Given the description of an element on the screen output the (x, y) to click on. 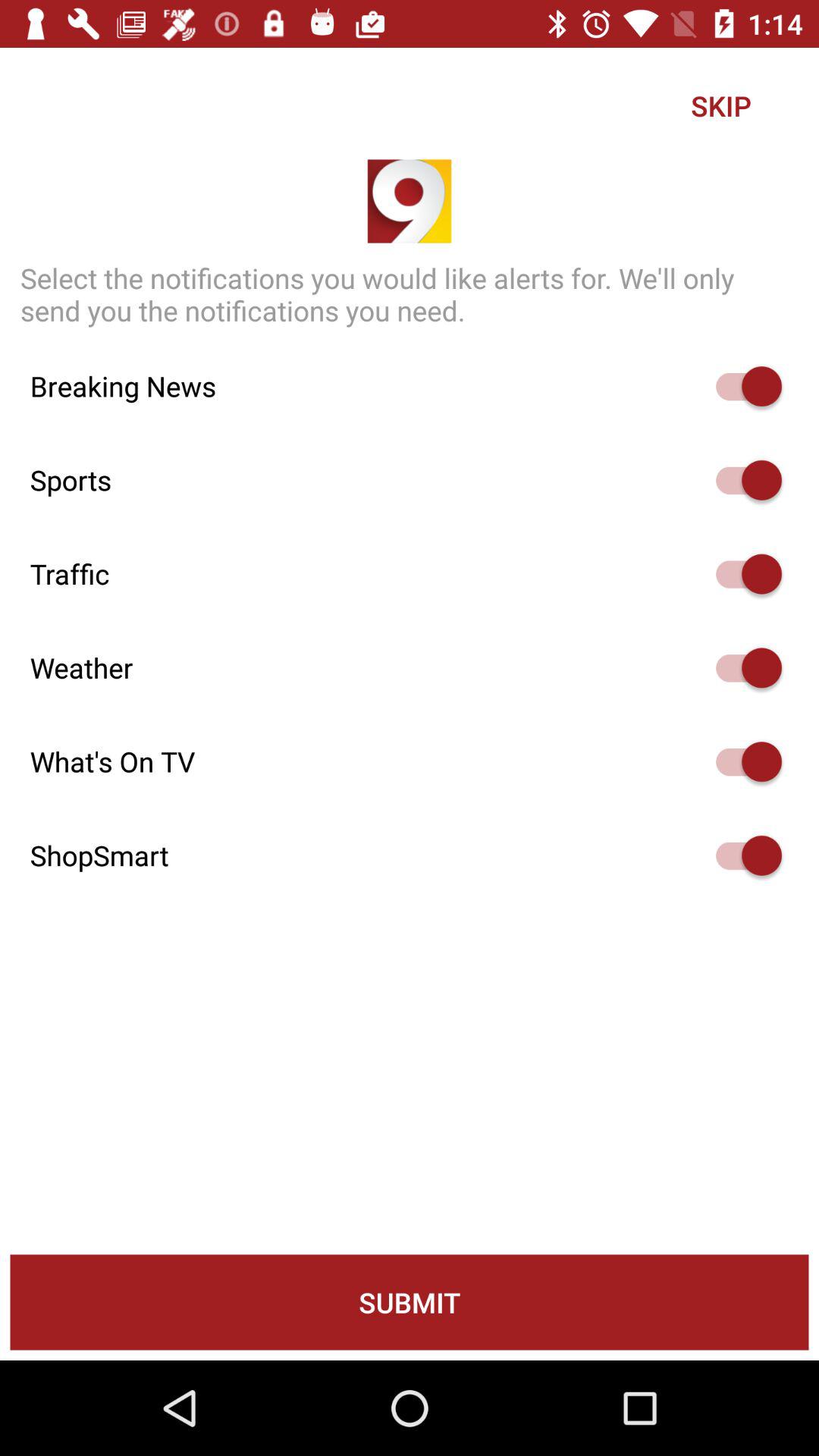
turn off option (741, 480)
